Given the description of an element on the screen output the (x, y) to click on. 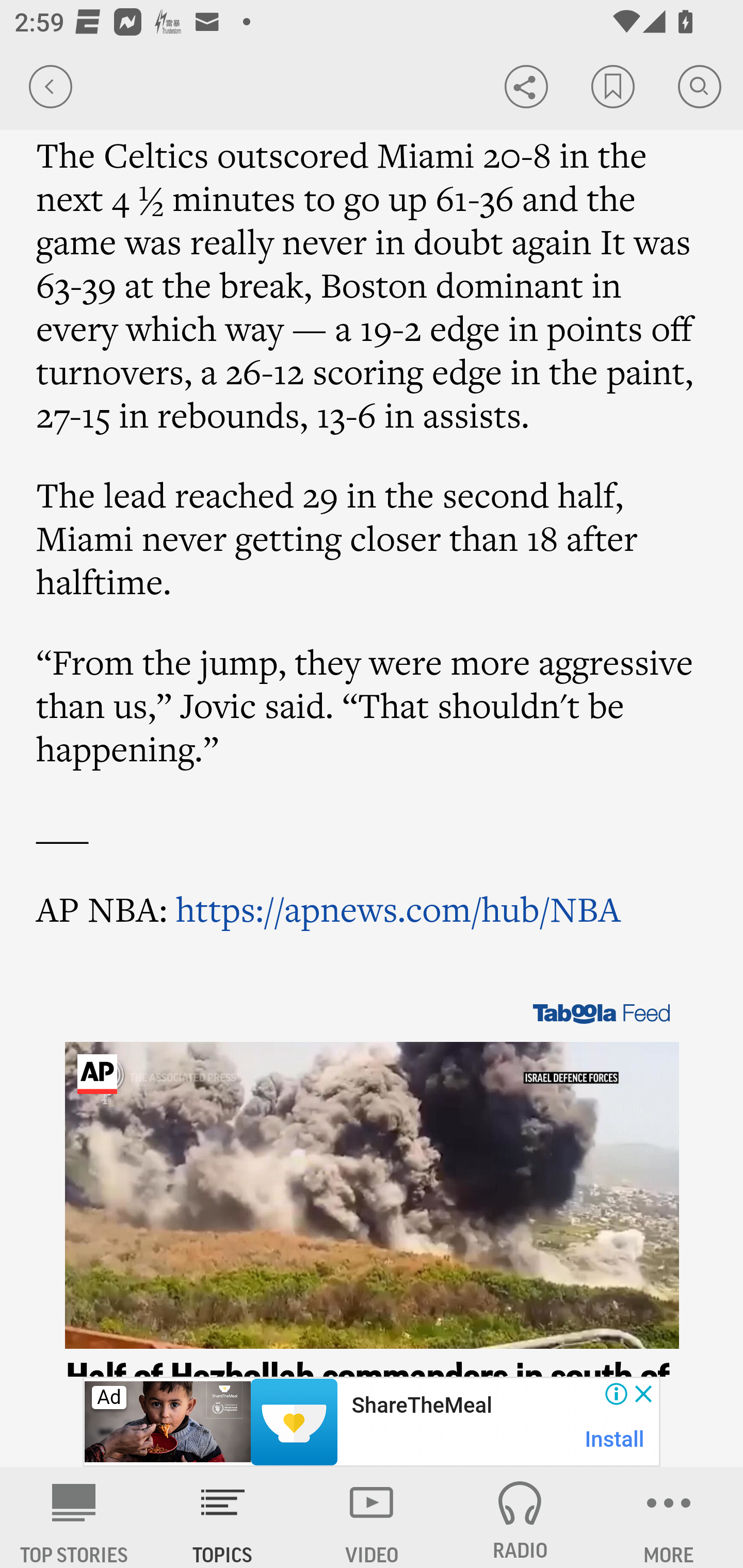
https://apnews.com/hub/NBA (397, 908)
Image for Taboola Advertising Unit (372, 1195)
ShareTheMeal (420, 1405)
Install (614, 1438)
AP News TOP STORIES (74, 1517)
TOPICS (222, 1517)
VIDEO (371, 1517)
RADIO (519, 1517)
MORE (668, 1517)
